Given the description of an element on the screen output the (x, y) to click on. 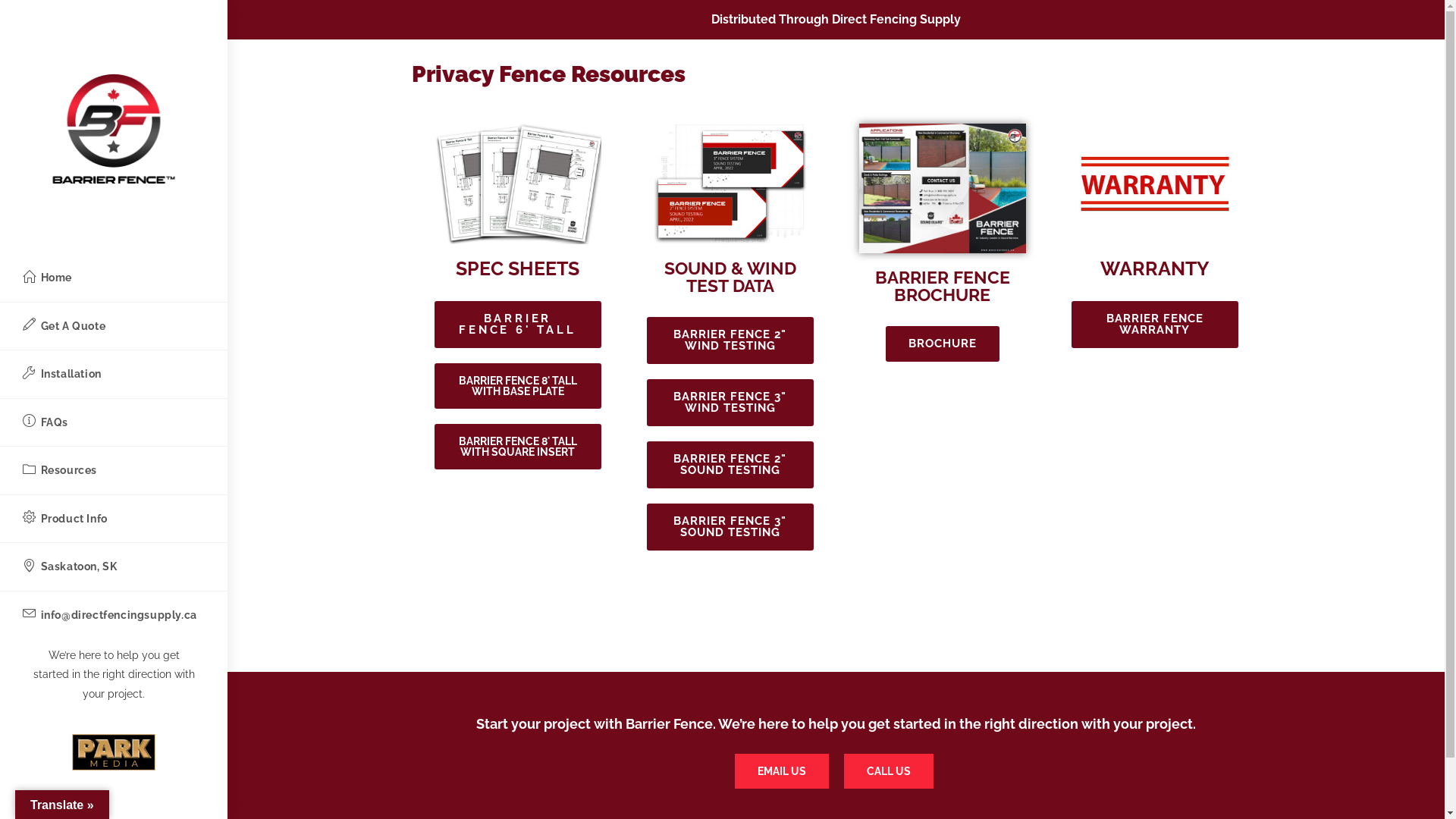
Product Info Element type: text (113, 518)
FAQs Element type: text (113, 422)
Home Element type: text (113, 277)
BARRIER FENCE WARRANTY Element type: text (1153, 324)
Distributed Through Direct Fencing Supply Element type: text (835, 19)
BARRIER FENCE 3" SOUND TESTING Element type: text (729, 526)
EMAIL US Element type: text (781, 770)
Installation Element type: text (113, 374)
CALL US Element type: text (887, 770)
BROCHURE Element type: text (942, 343)
BARRIER FENCE 8' TALL WITH SQUARE INSERT Element type: text (516, 446)
BARRIER FENCE 6' TALL Element type: text (516, 324)
BARRIER FENCE 2" WIND TESTING Element type: text (729, 340)
BARRIER FENCE 8' TALL WITH BASE PLATE Element type: text (516, 385)
info@directfencingsupply.ca Element type: text (113, 615)
Get A Quote Element type: text (113, 326)
BARRIER FENCE 3" WIND TESTING Element type: text (729, 402)
BARRIER FENCE 2" SOUND TESTING Element type: text (729, 464)
Saskatoon, SK Element type: text (113, 566)
Resources Element type: text (113, 470)
